Given the description of an element on the screen output the (x, y) to click on. 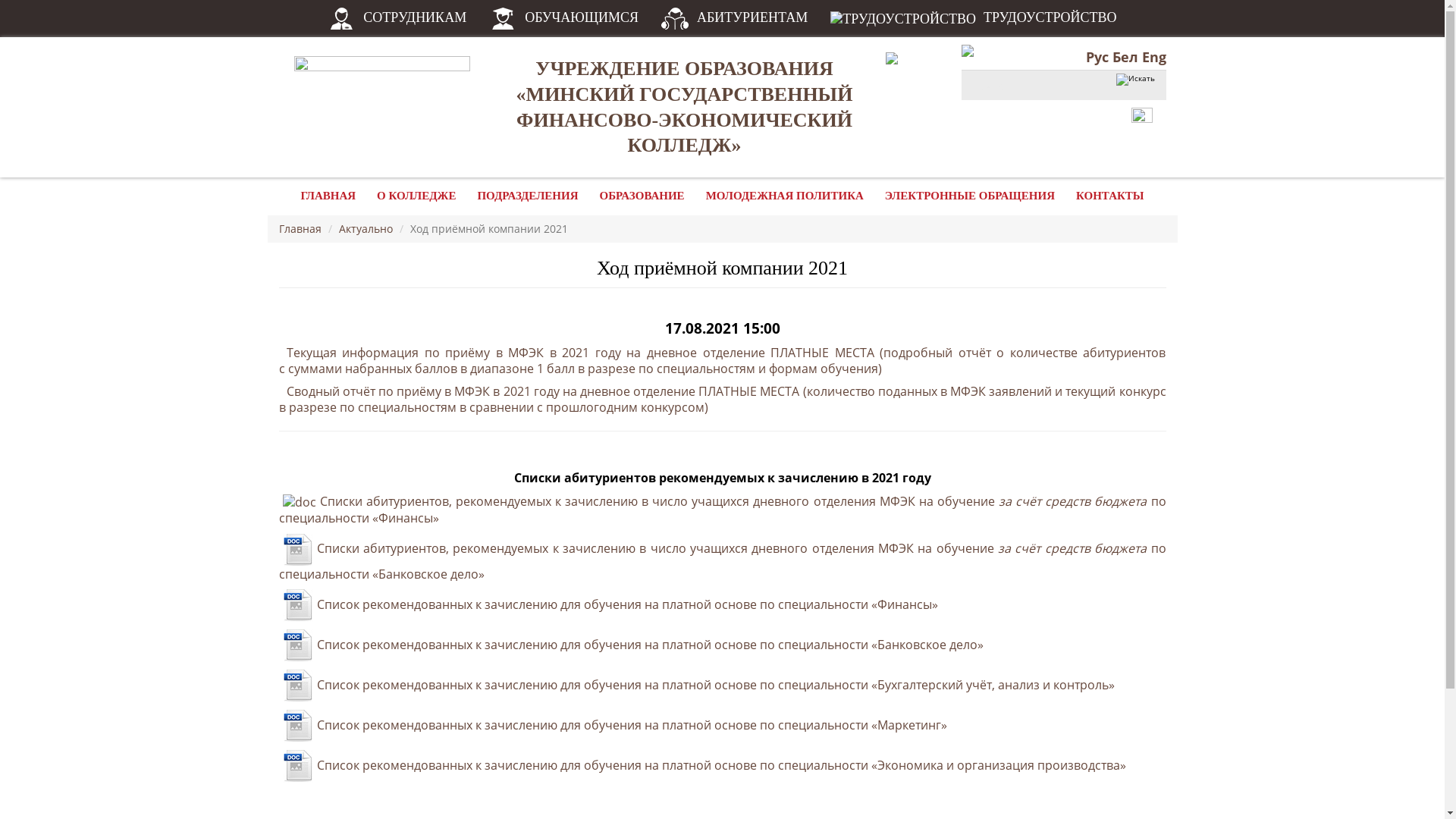
Eng Element type: text (1154, 56)
